Given the description of an element on the screen output the (x, y) to click on. 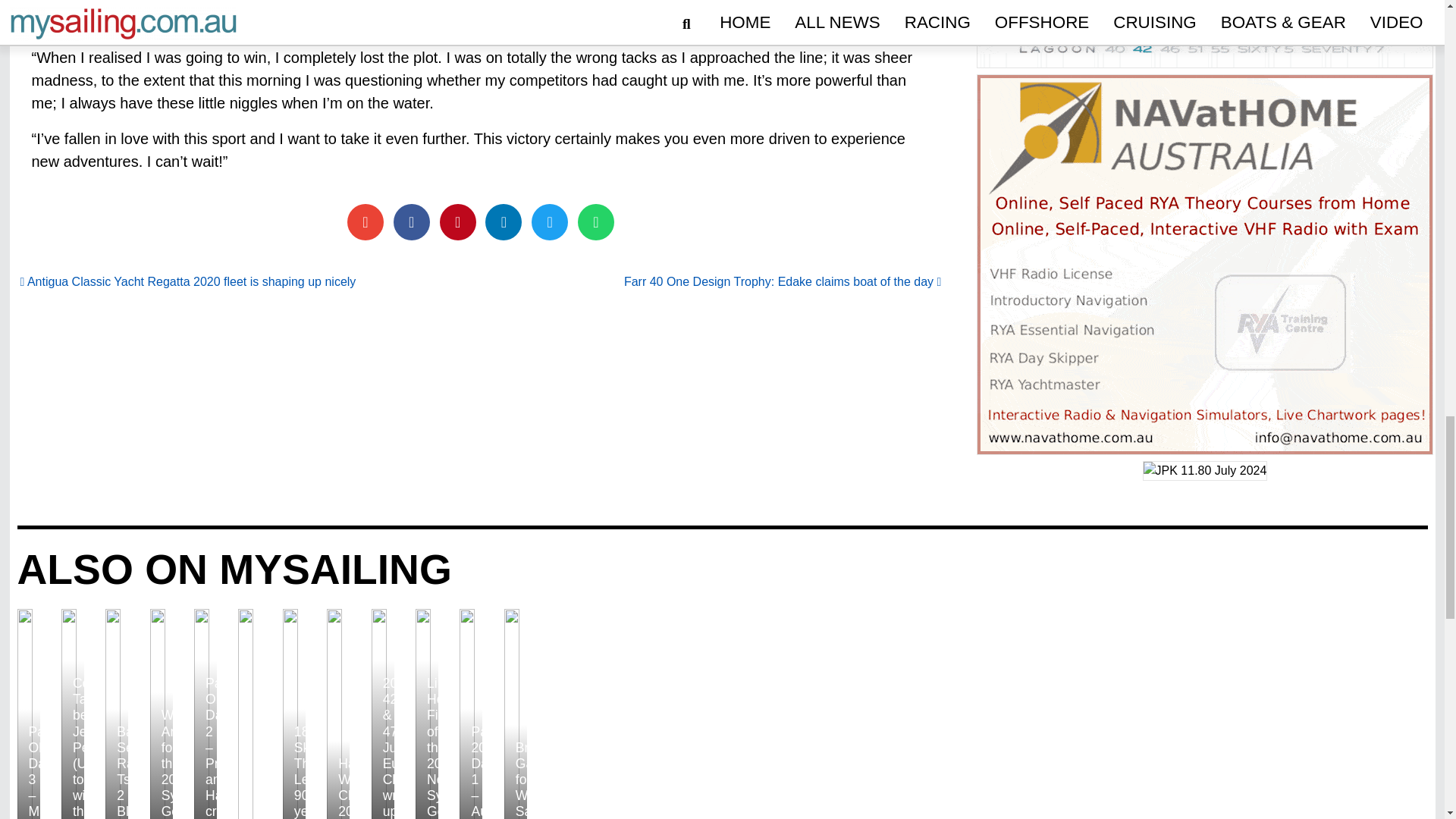
Share by Email (365, 221)
Farr 40 One Design Trophy: Edake claims boat of the day  (783, 281)
